Given the description of an element on the screen output the (x, y) to click on. 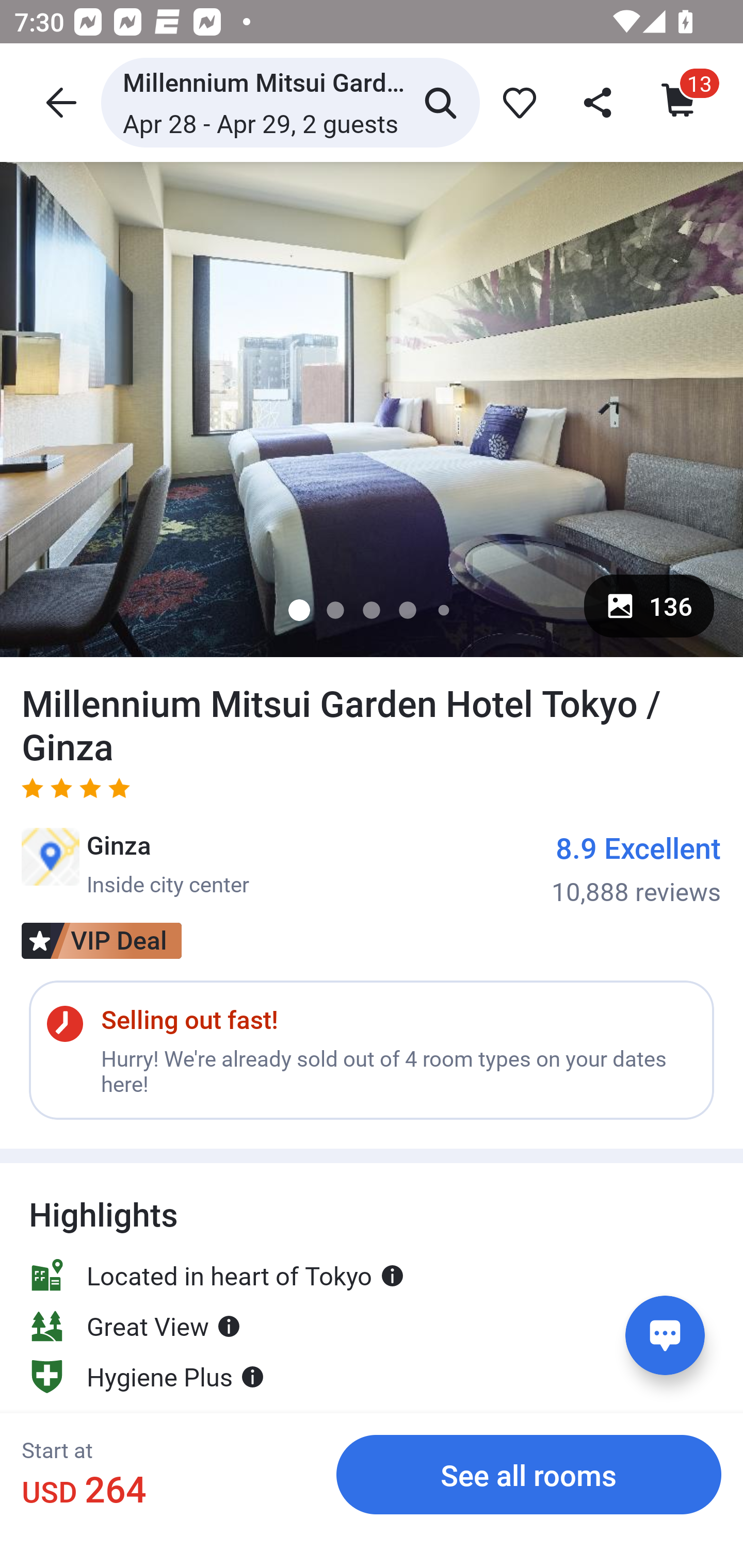
header icon (59, 102)
favorite_icon 0dbe6efb (515, 102)
share_header_icon (598, 102)
Cart icon cart_item_count 13 (679, 102)
image (371, 408)
136 (648, 605)
Ginza Inside city center (134, 863)
8.9 Excellent 10,888 reviews (636, 867)
Located in heart of Tokyo (216, 1275)
See all rooms (528, 1474)
